Given the description of an element on the screen output the (x, y) to click on. 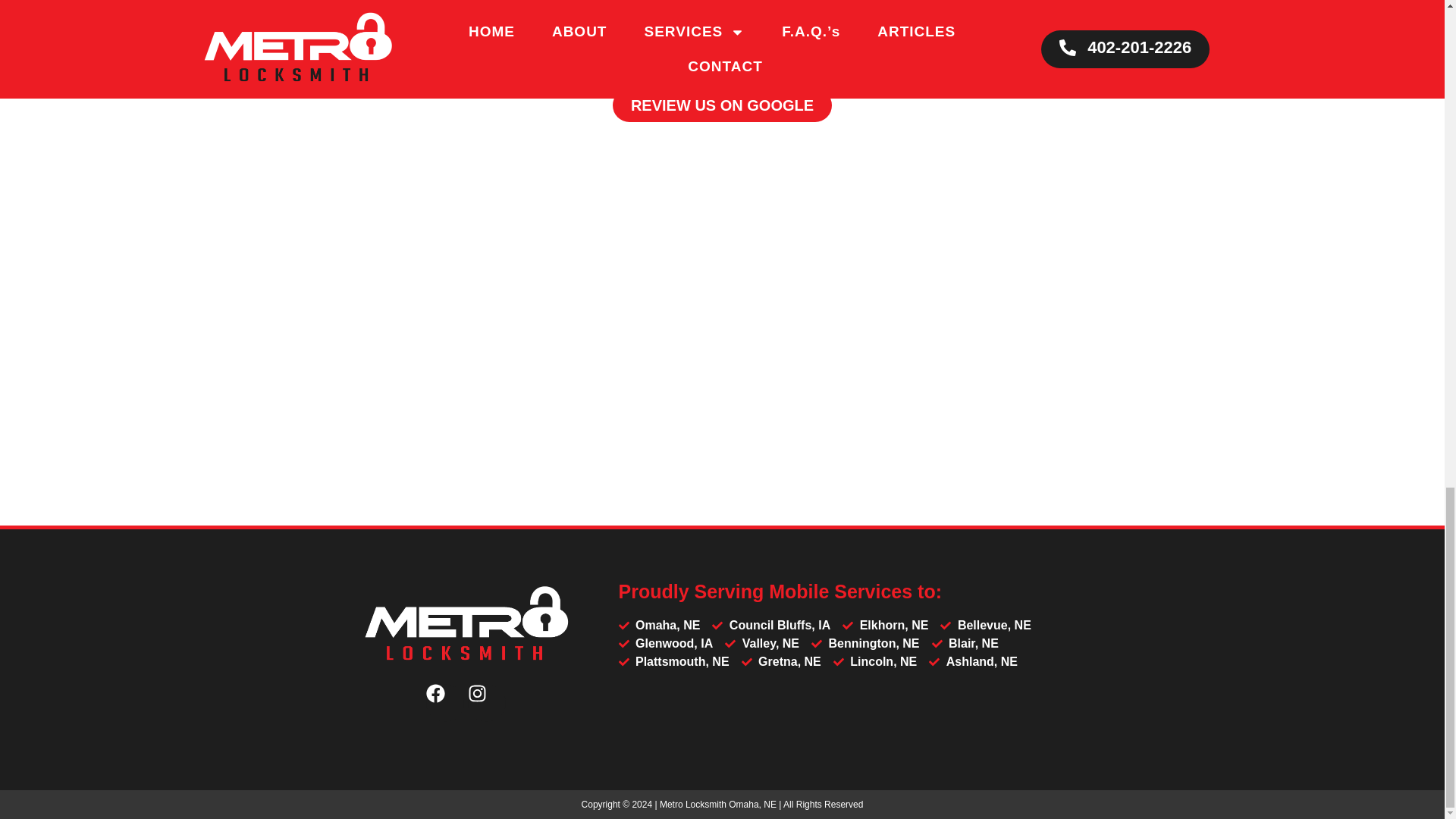
Mikes-Metro-Logo-NEWFINALSred (466, 625)
